Given the description of an element on the screen output the (x, y) to click on. 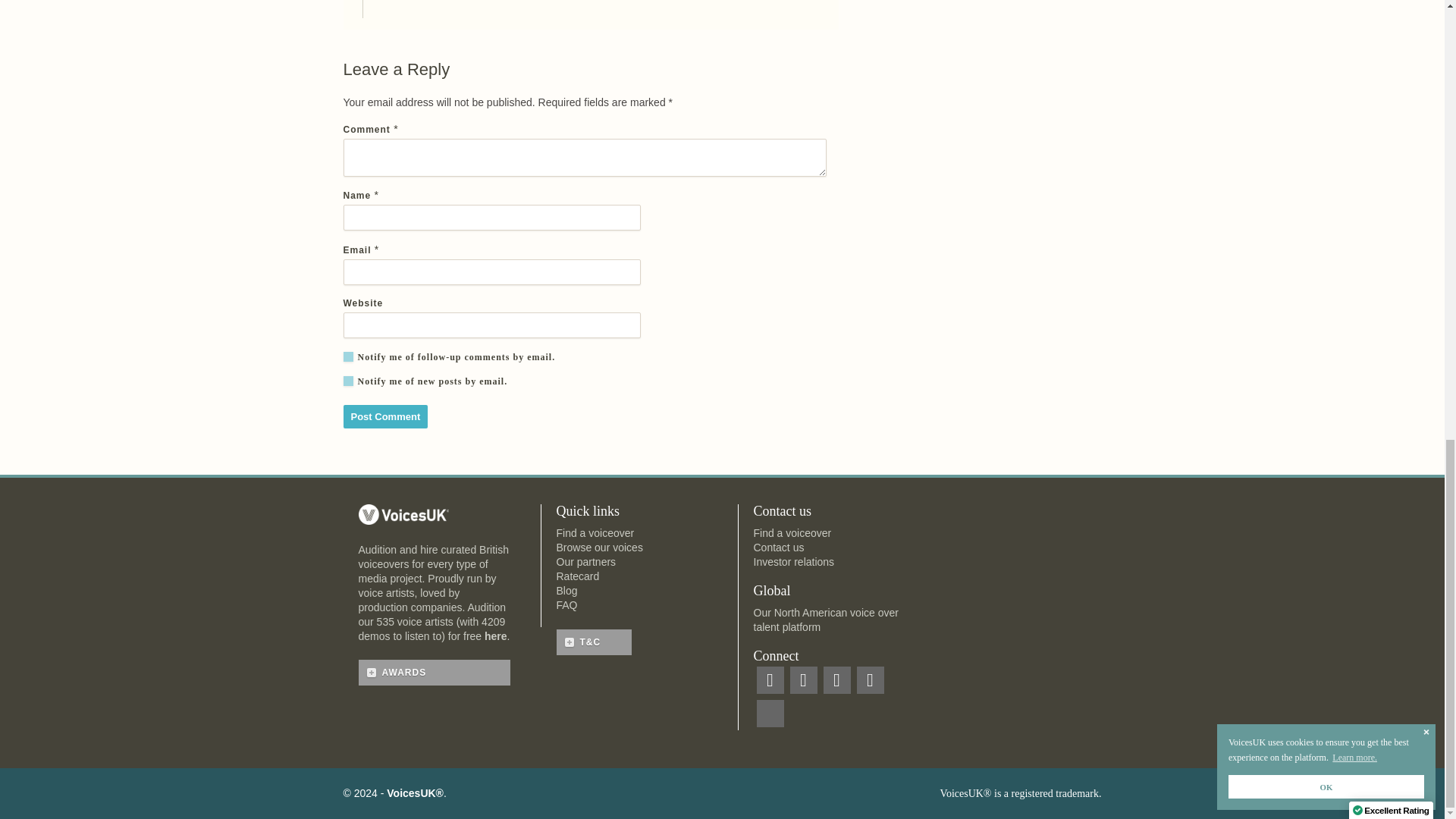
Post Comment (385, 416)
Post Comment (385, 416)
